Given the description of an element on the screen output the (x, y) to click on. 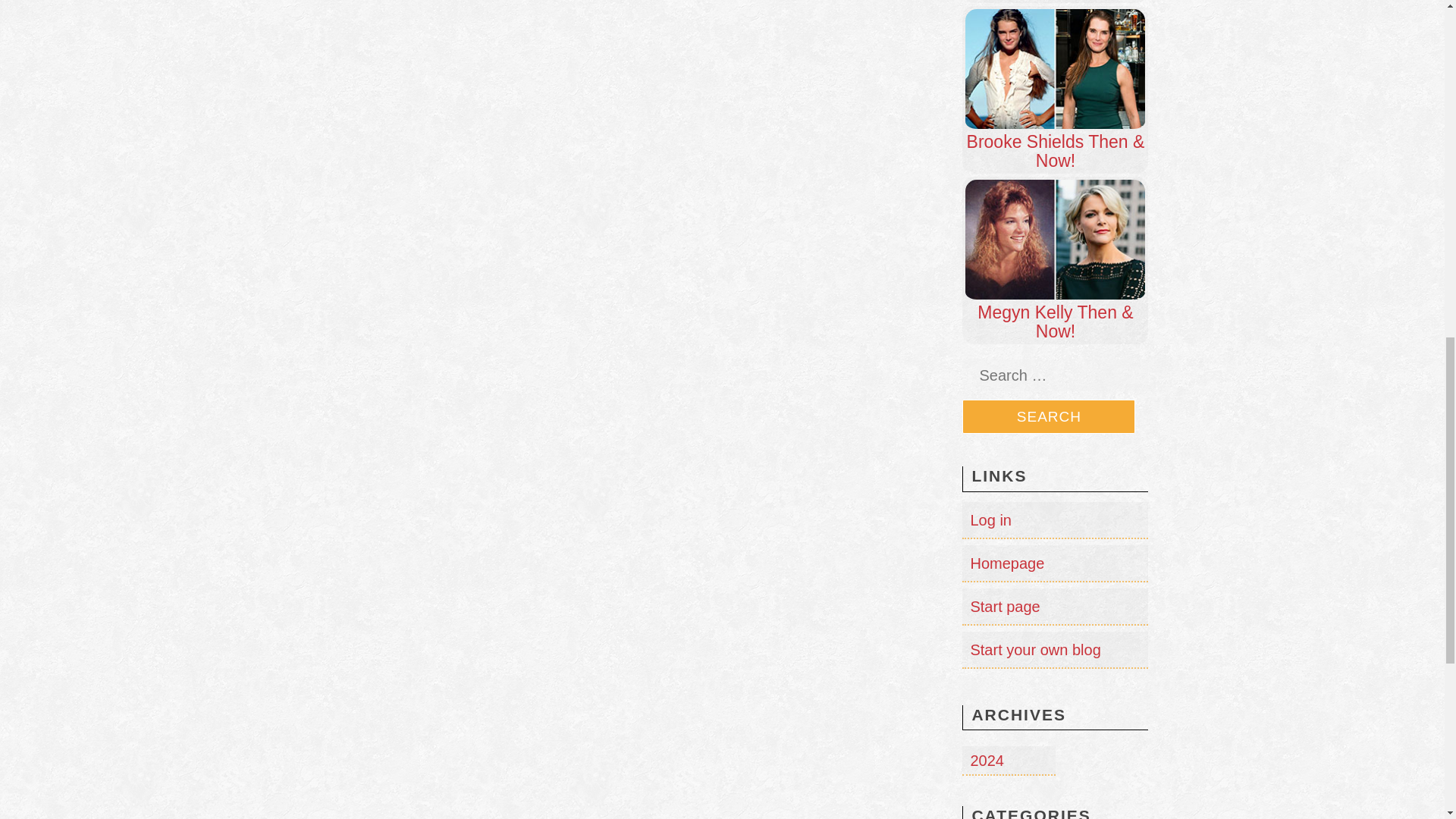
Log in (990, 519)
Search (1048, 416)
Start page (1004, 606)
Homepage (1006, 563)
Start your own blog (1034, 649)
2024 (986, 760)
Search (1048, 416)
Search (1048, 416)
